Given the description of an element on the screen output the (x, y) to click on. 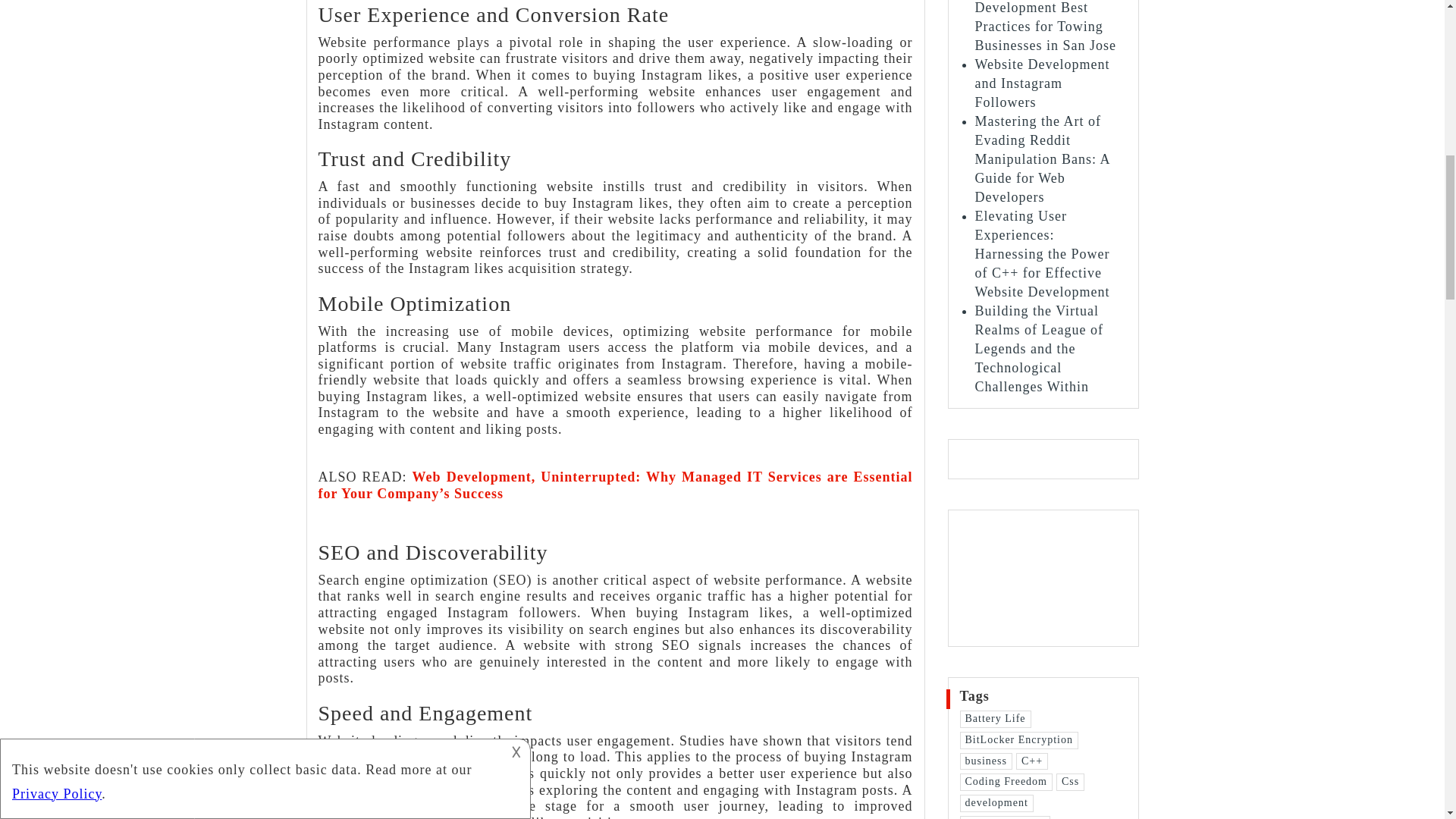
Css (1070, 782)
Website Development and Instagram Followers (1042, 82)
Coding Freedom (1005, 782)
Battery Life (994, 719)
BitLocker Encryption (1018, 740)
development (996, 803)
business (985, 761)
